Given the description of an element on the screen output the (x, y) to click on. 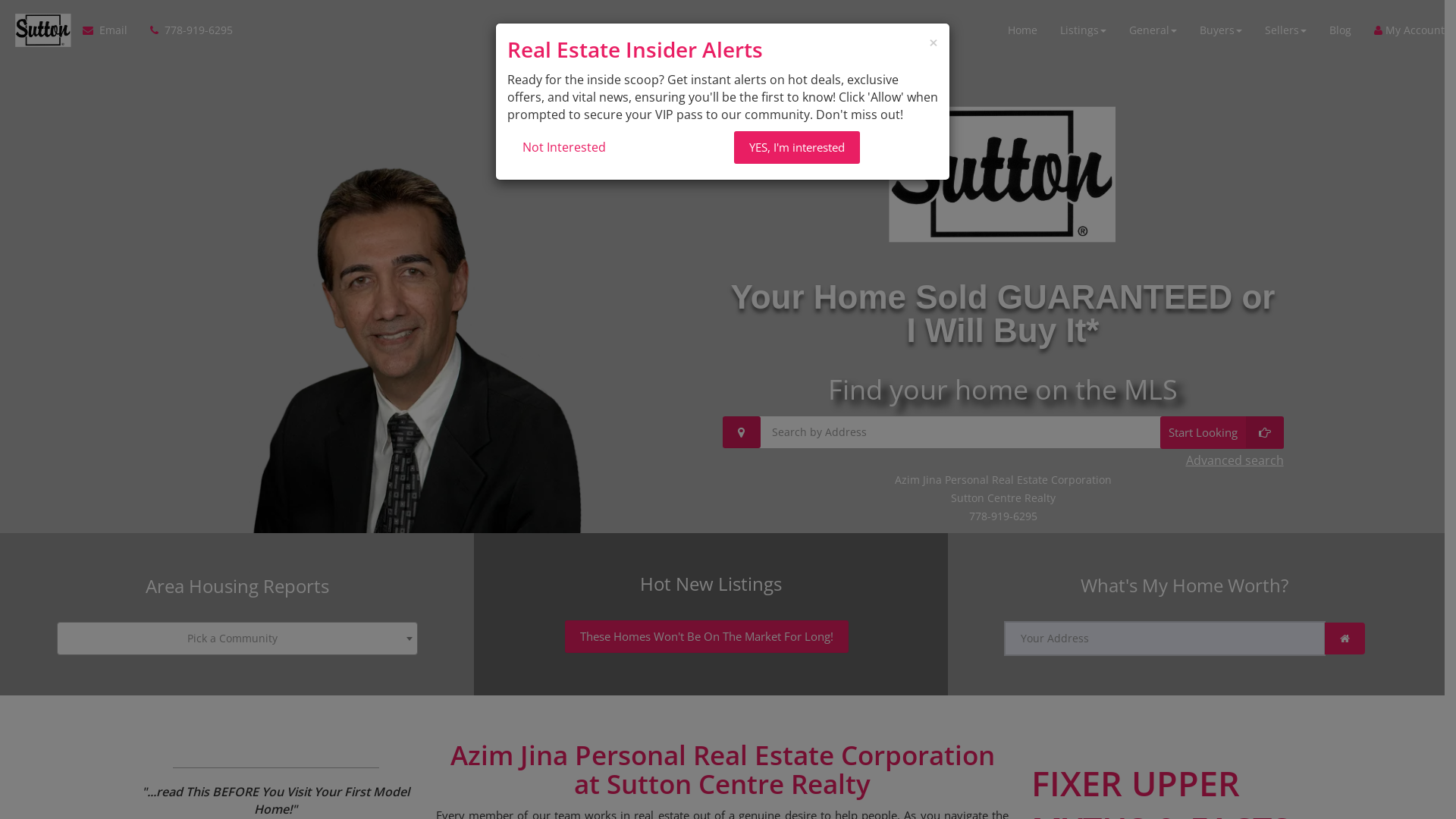
  Email Element type: text (110, 30)
Advanced search Element type: text (1234, 460)
My Account Element type: text (1403, 30)
Listings Element type: text (1082, 30)
YES, I'm interested Element type: text (796, 147)
Buyers Element type: text (1220, 30)
General Element type: text (1152, 30)
Start Looking Element type: text (1221, 432)
778-919-6295 Element type: text (1003, 515)
Your Home Sold GUARANTEED or I Will Buy It* Element type: text (1003, 313)
Sellers Element type: text (1285, 30)
Blog Element type: text (1339, 30)
These Homes Won't Be On The Market For Long! Element type: text (706, 636)
Not Interested Element type: text (608, 147)
Home Element type: text (1027, 30)
  778-919-6295 Element type: text (185, 30)
